Given the description of an element on the screen output the (x, y) to click on. 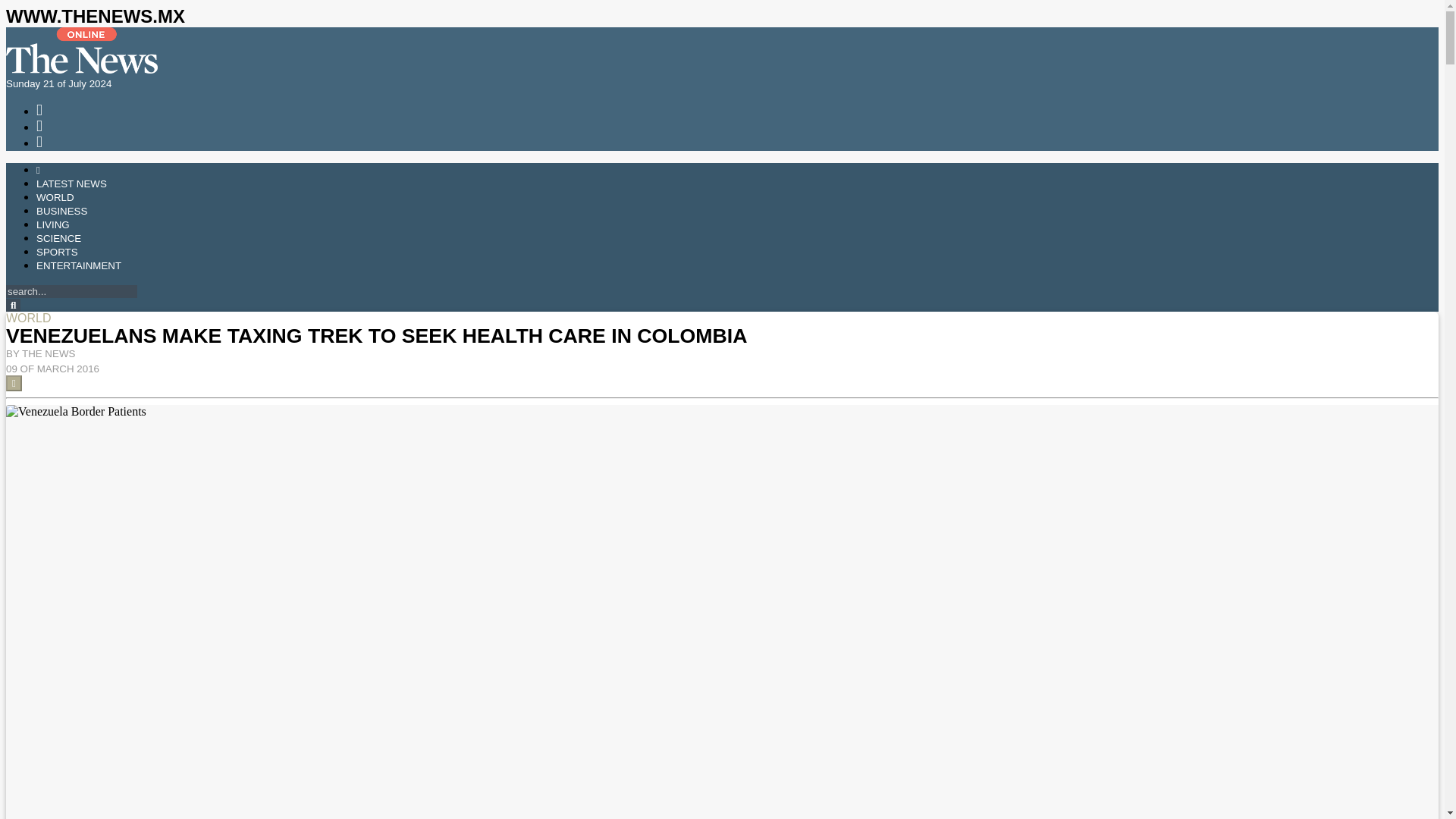
Entertainment (78, 265)
Sports (57, 251)
The News (81, 69)
SPORTS (57, 251)
SCIENCE (58, 238)
LATEST NEWS (71, 183)
Business (61, 211)
World (55, 197)
Living (52, 224)
Latest News (71, 183)
LIVING (52, 224)
THE NEWS (48, 353)
BUSINESS (61, 211)
Science (58, 238)
WORLD (55, 197)
